Given the description of an element on the screen output the (x, y) to click on. 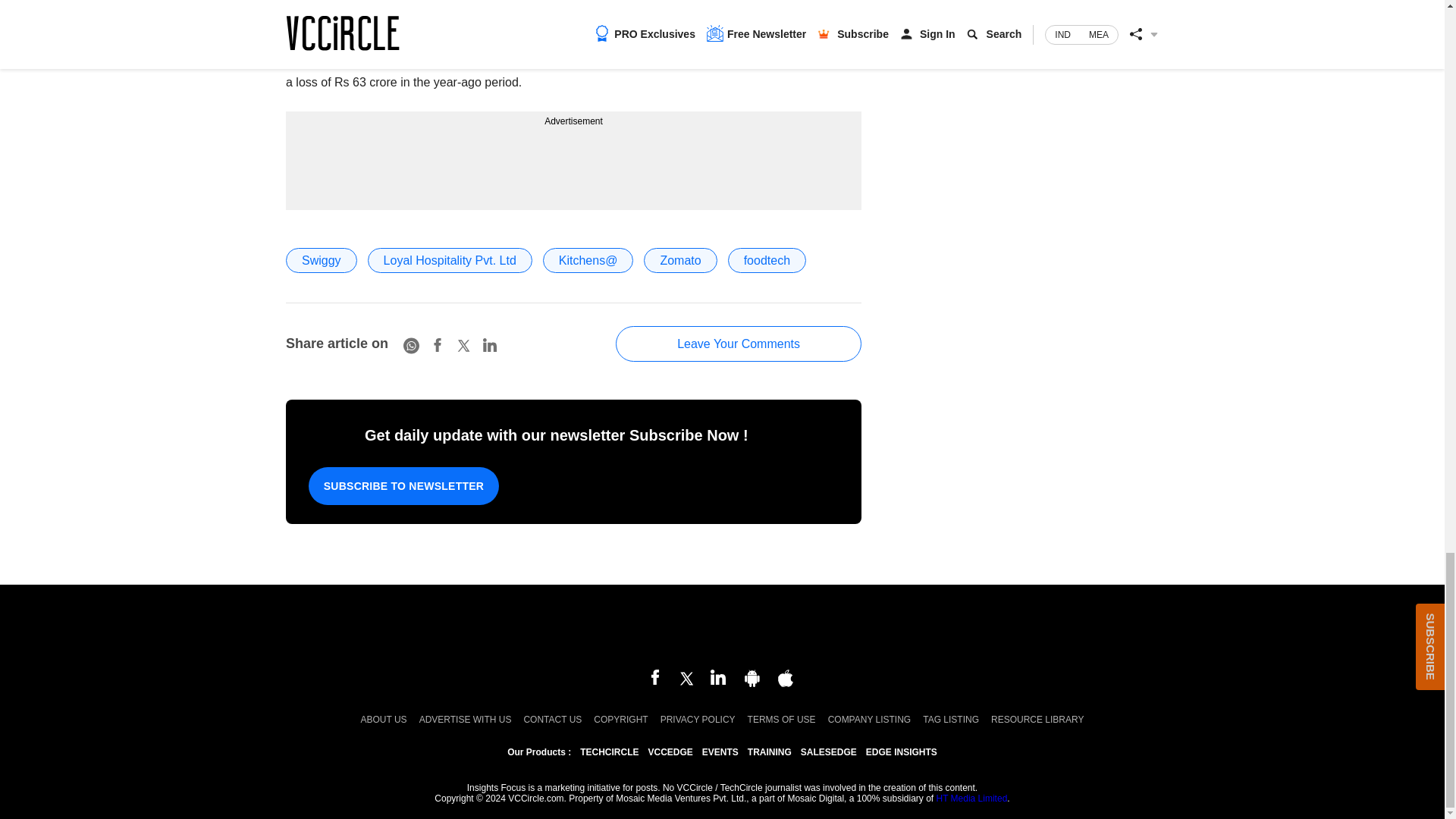
Swiggy (320, 260)
foodtech (767, 260)
Loyal Hospitality Pvt. Ltd (450, 260)
Zomato (679, 260)
SUBSCRIBE TO NEWSLETTER (403, 485)
Mosaic Digital (721, 628)
Leave Your Comments (738, 343)
